Given the description of an element on the screen output the (x, y) to click on. 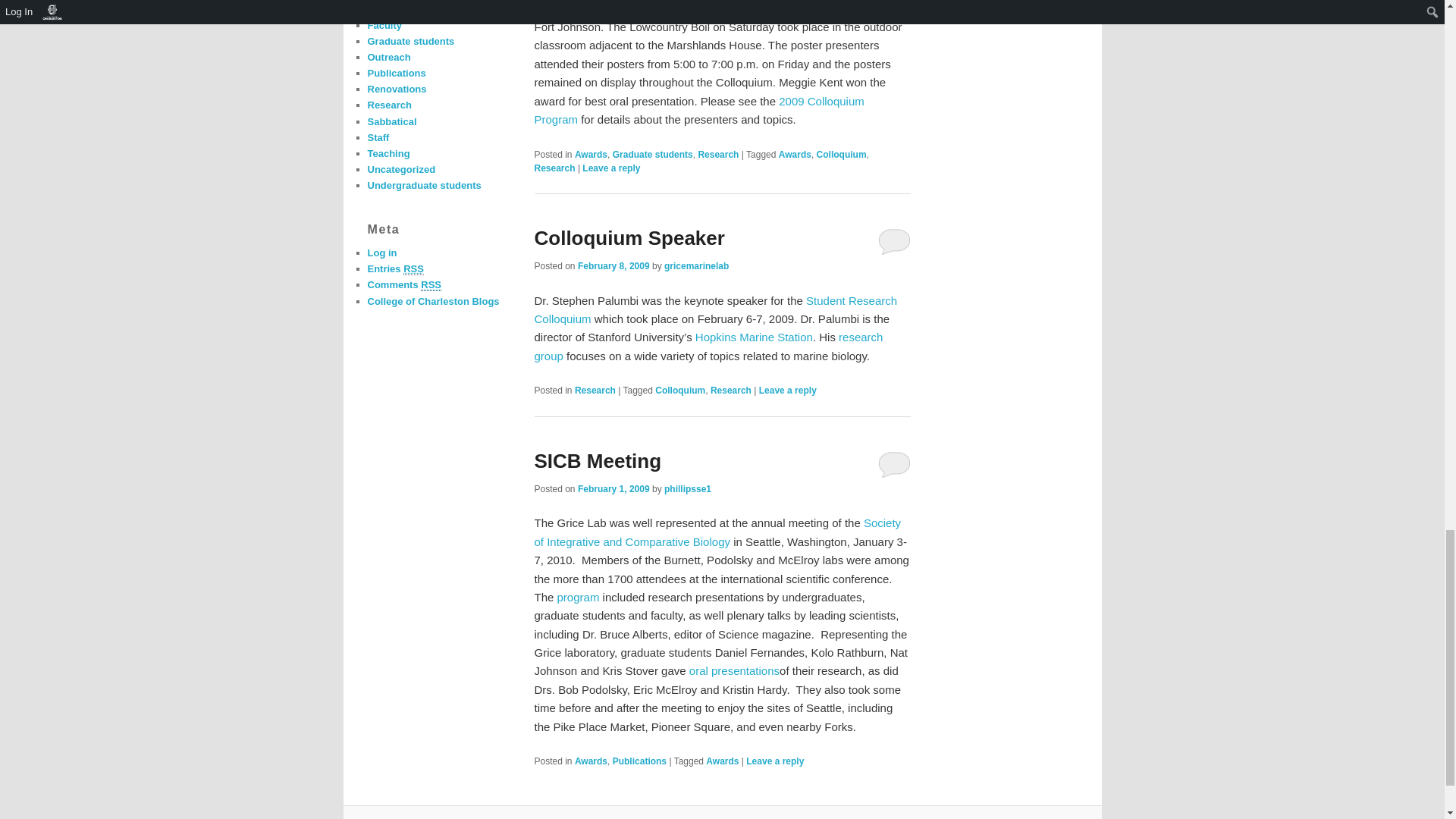
Graduate students (652, 154)
Colloquium (841, 154)
Permalink to Colloquium Speaker (628, 237)
Research (717, 154)
Awards (591, 154)
View all posts by gricemarinelab (696, 266)
6:45 pm (613, 266)
7:41 pm (613, 489)
Permalink to SICB Meeting (597, 460)
2009 Colloquium Program (698, 110)
